Given the description of an element on the screen output the (x, y) to click on. 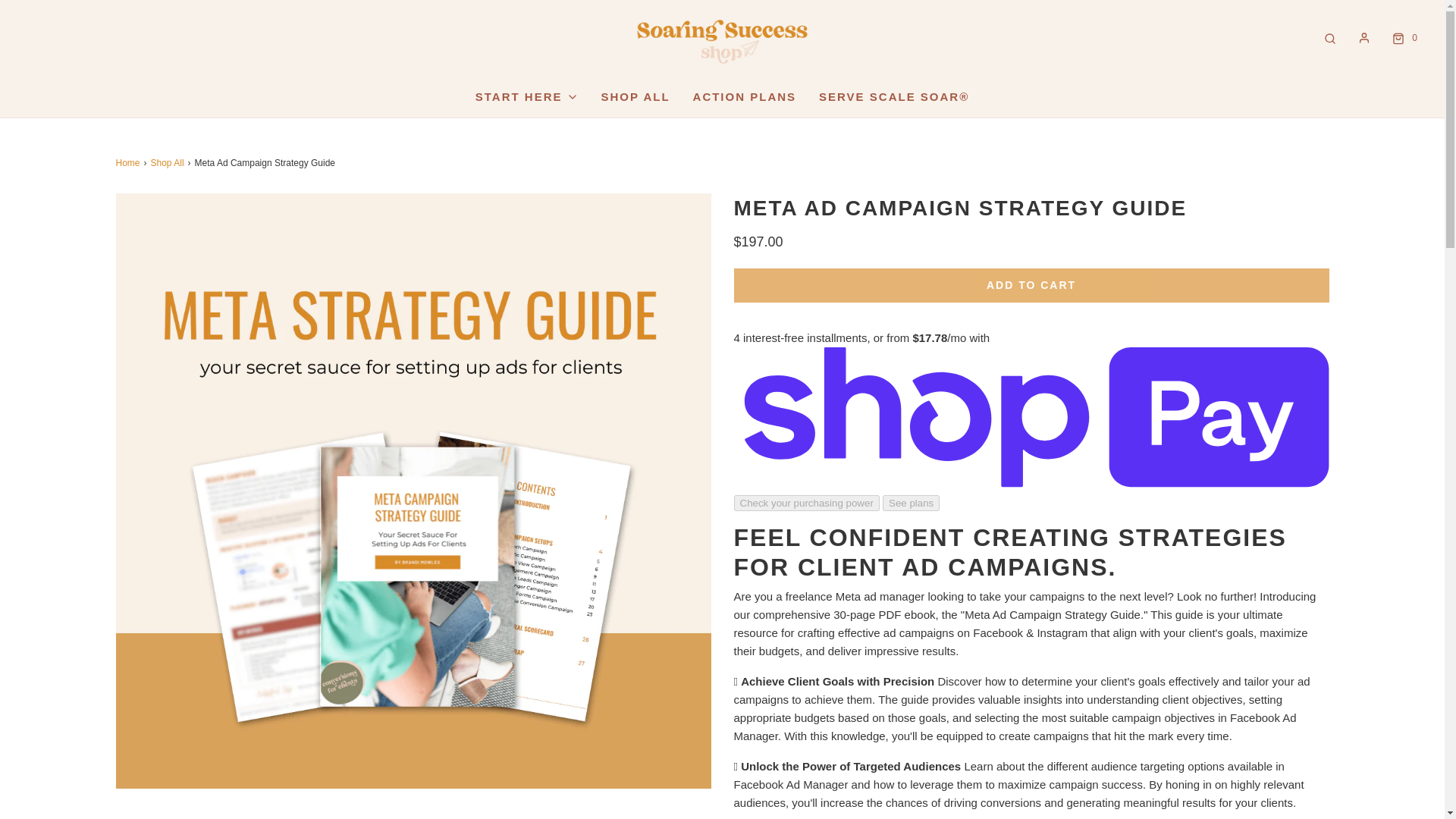
Search (1329, 37)
Cart (1403, 37)
Log in (1364, 37)
Back to the frontpage (128, 163)
